Given the description of an element on the screen output the (x, y) to click on. 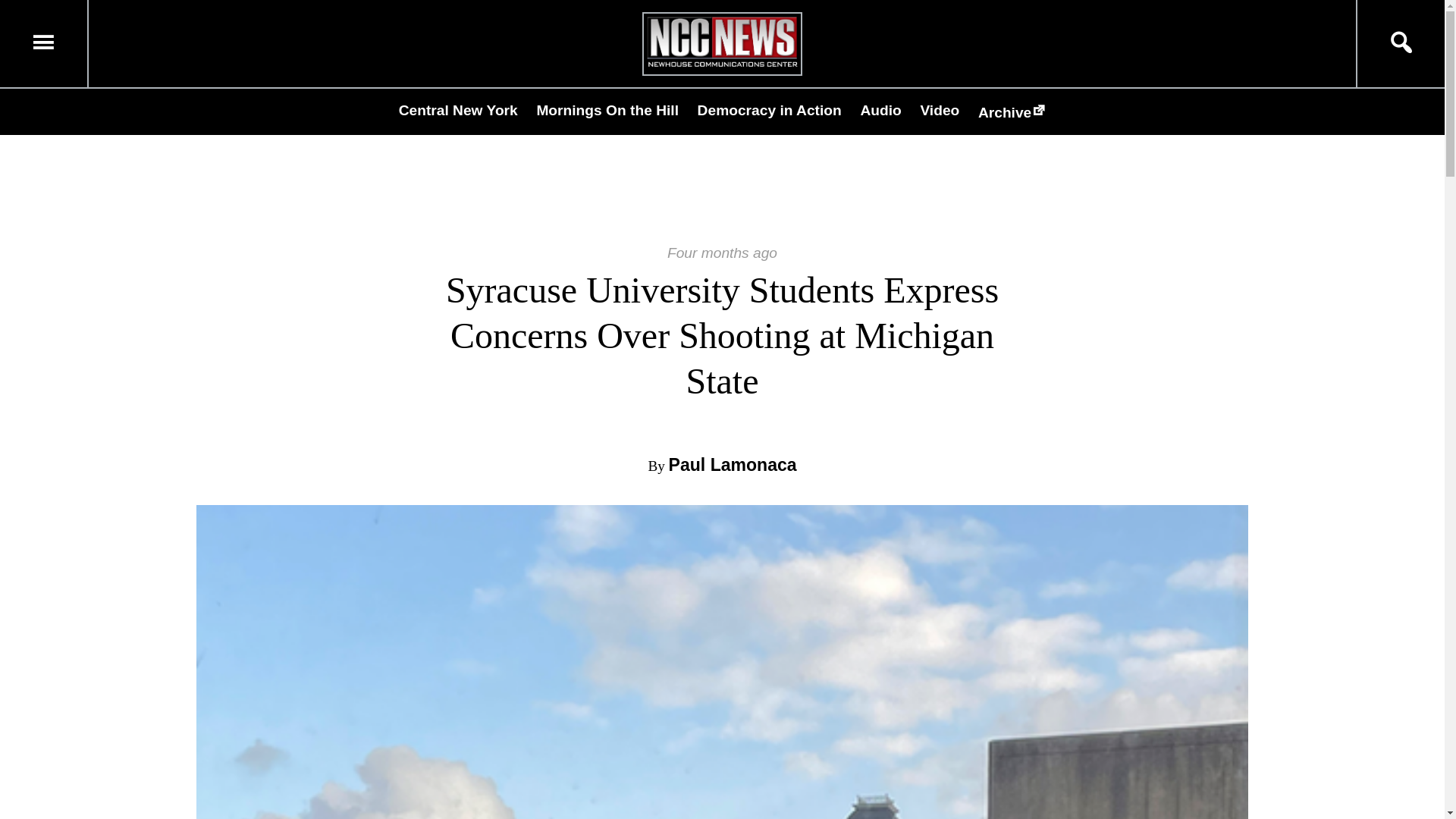
Video (939, 109)
Audio (880, 109)
Central New York (458, 109)
Mornings On the Hill (606, 109)
Archive (1011, 112)
Homepage (721, 66)
Democracy in Action (769, 109)
